Given the description of an element on the screen output the (x, y) to click on. 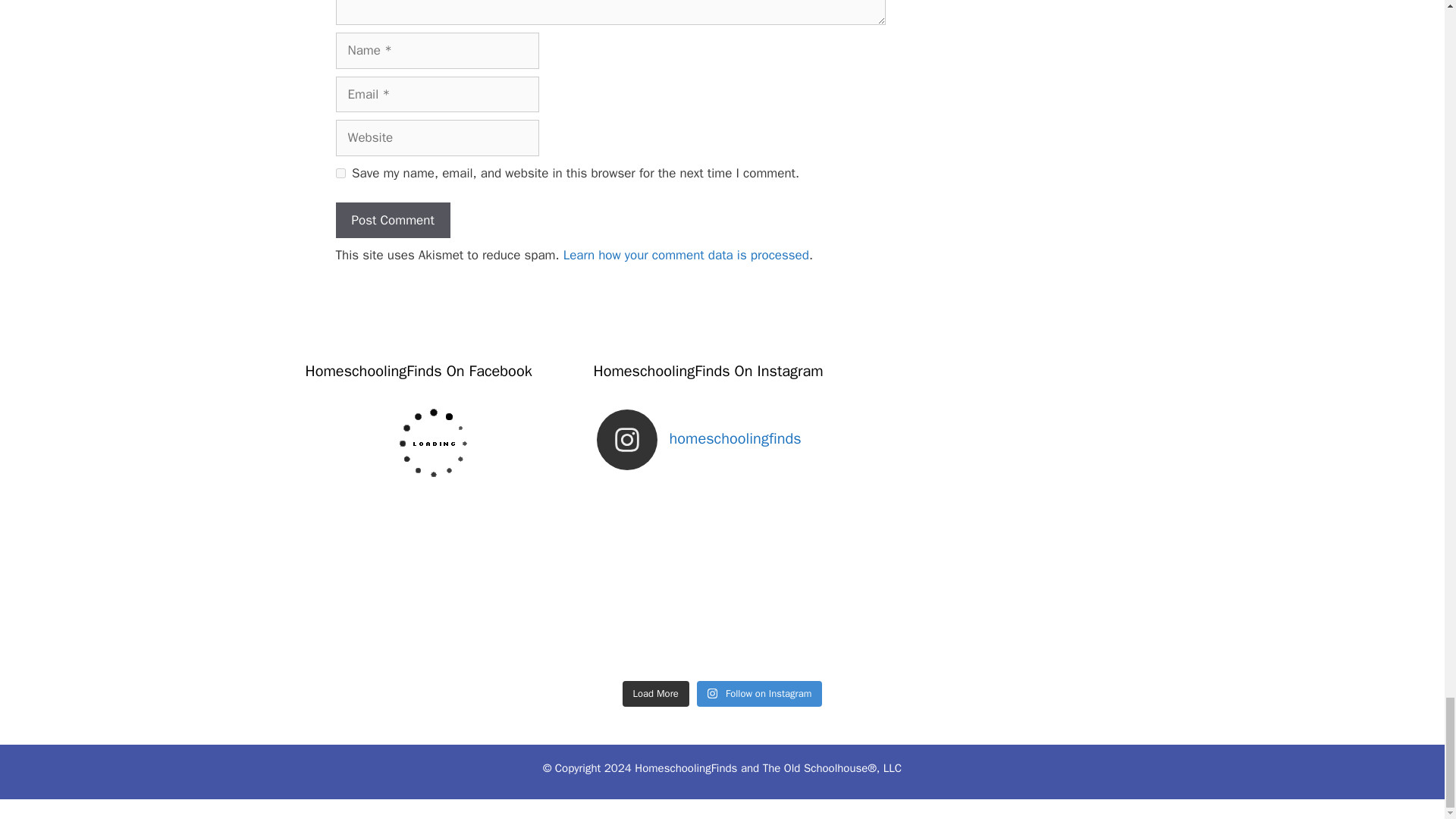
Post Comment (391, 220)
Post Comment (391, 220)
Learn how your comment data is processed (686, 254)
yes (339, 173)
